Given the description of an element on the screen output the (x, y) to click on. 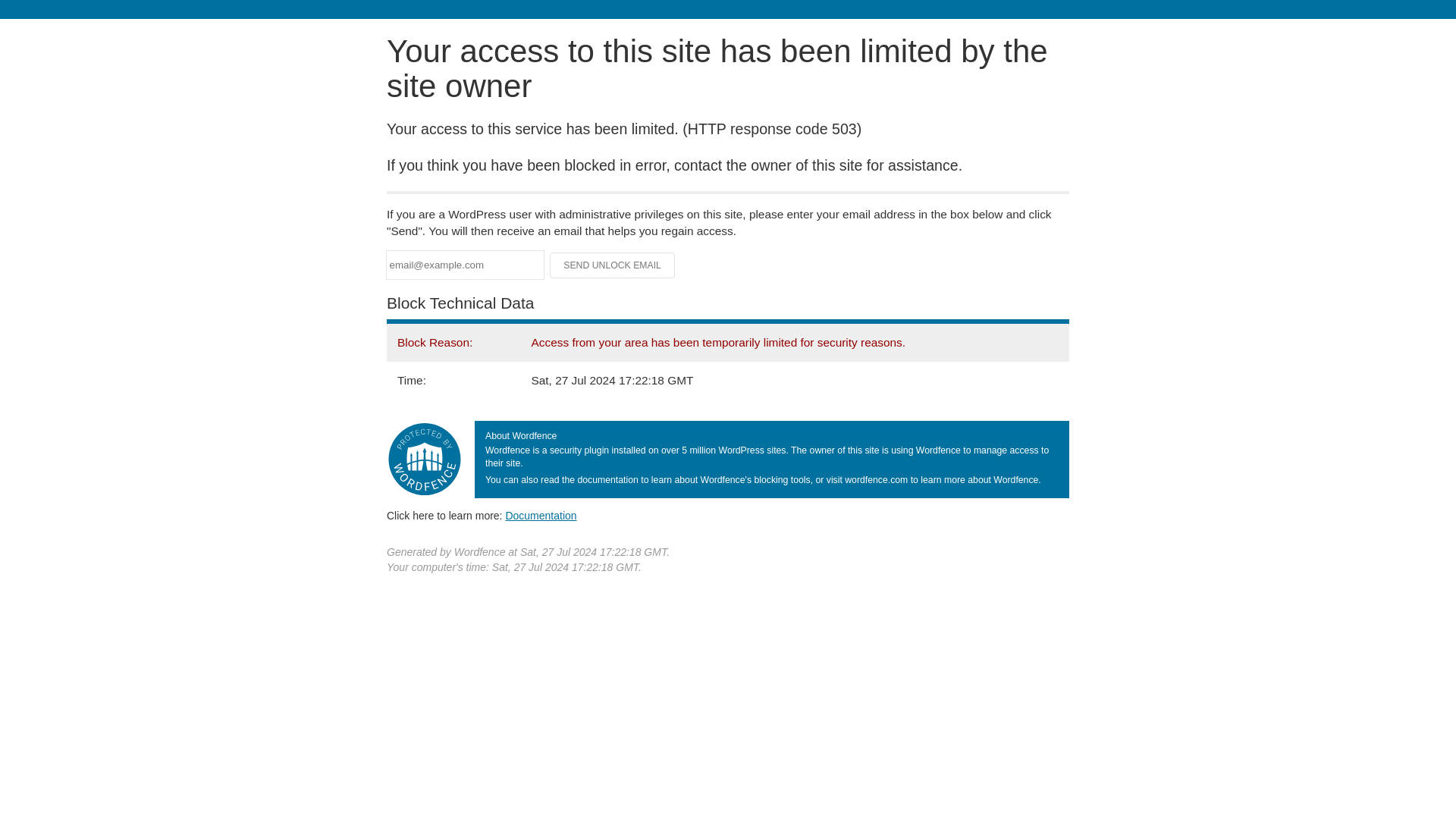
Documentation (540, 515)
Send Unlock Email (612, 265)
Send Unlock Email (612, 265)
